Given the description of an element on the screen output the (x, y) to click on. 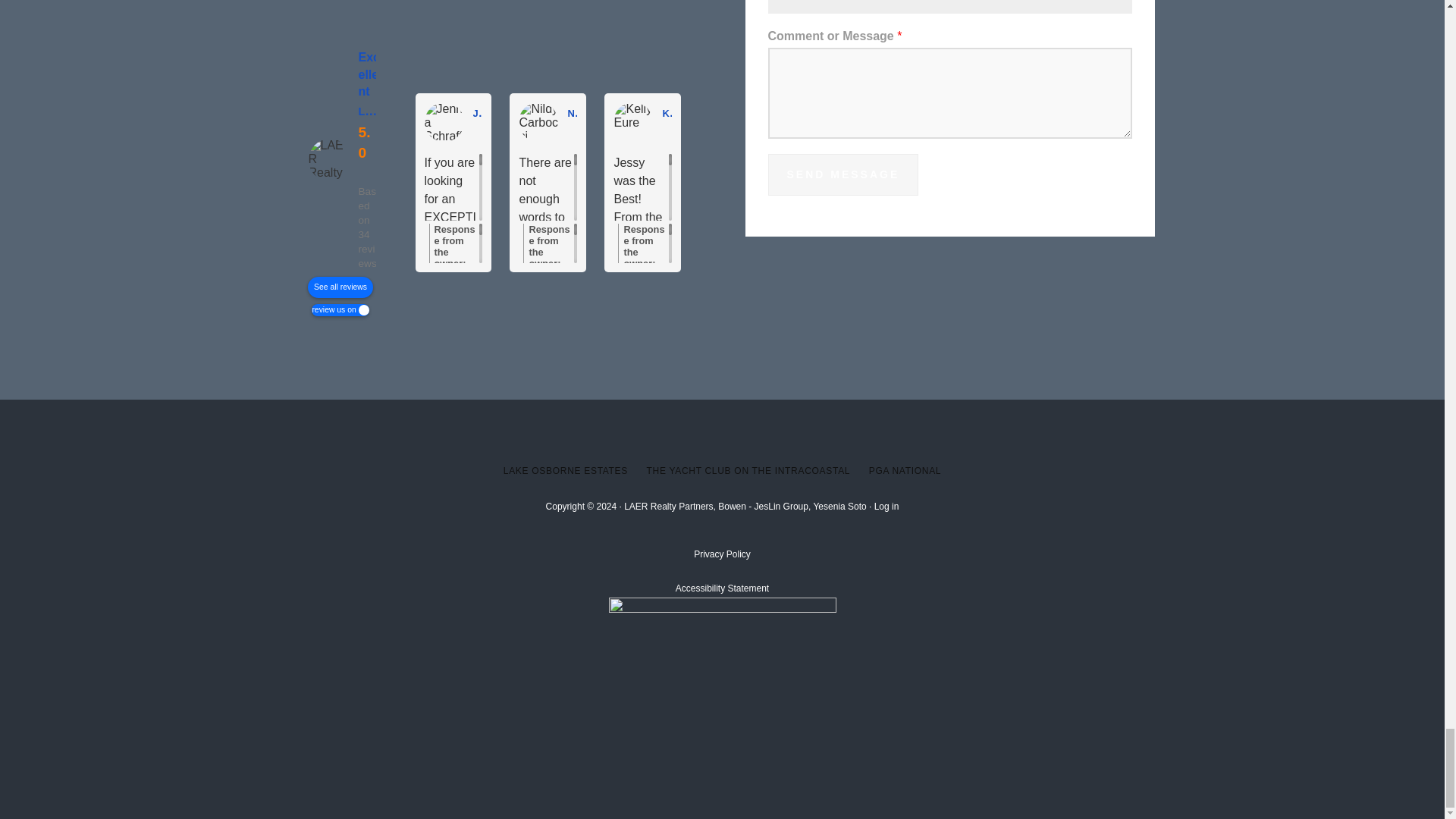
LAER Realty Partners - Bowen JesLin Group, Yesenia  (328, 159)
Kelly Eure (632, 121)
Bob Fuller (1012, 121)
Brandy Curry (727, 121)
Henryk Maedler-Kron (823, 121)
David Brown (917, 121)
Jenna Schraffa (444, 121)
Nildy Carbocci (537, 121)
